Given the description of an element on the screen output the (x, y) to click on. 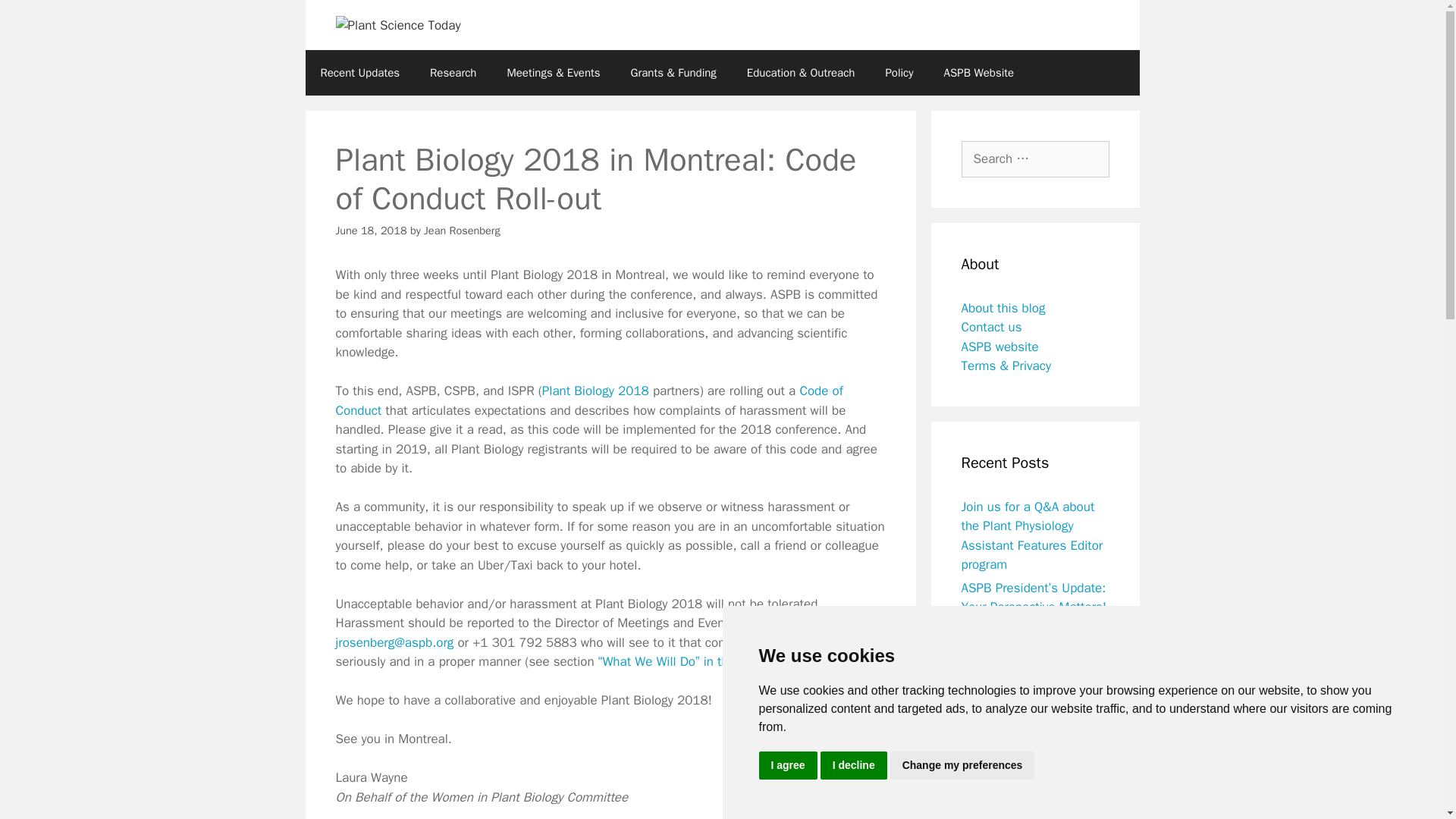
25 Inspiring Women in Plant Biology (1023, 782)
Jean Rosenberg (461, 230)
I agree (787, 765)
Policy (898, 72)
Recent Updates (359, 72)
Plant Biology 2018 (595, 390)
ASPB website (999, 346)
I decline (853, 765)
ASPB Website (978, 72)
